Given the description of an element on the screen output the (x, y) to click on. 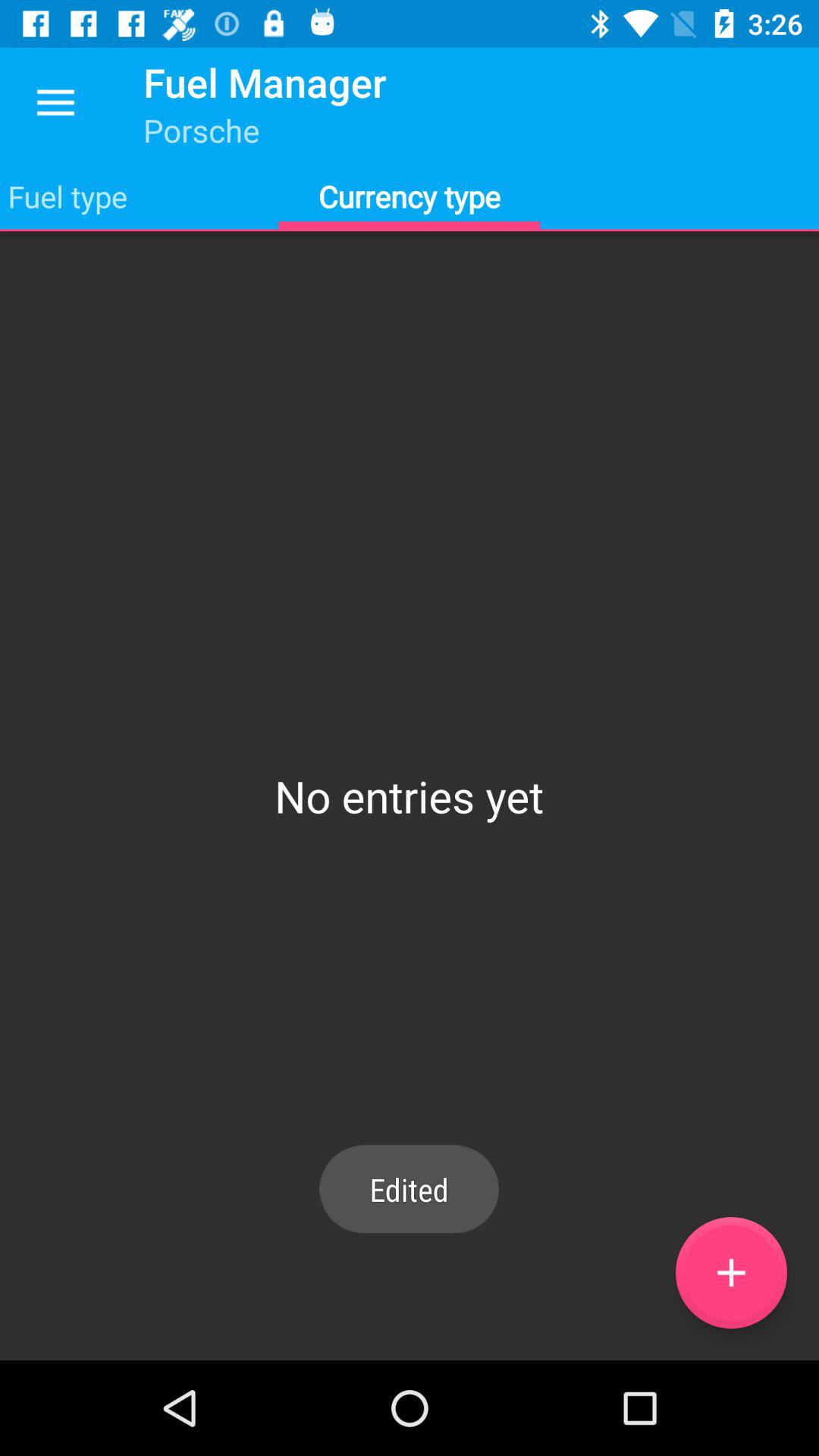
add entry (731, 1272)
